Given the description of an element on the screen output the (x, y) to click on. 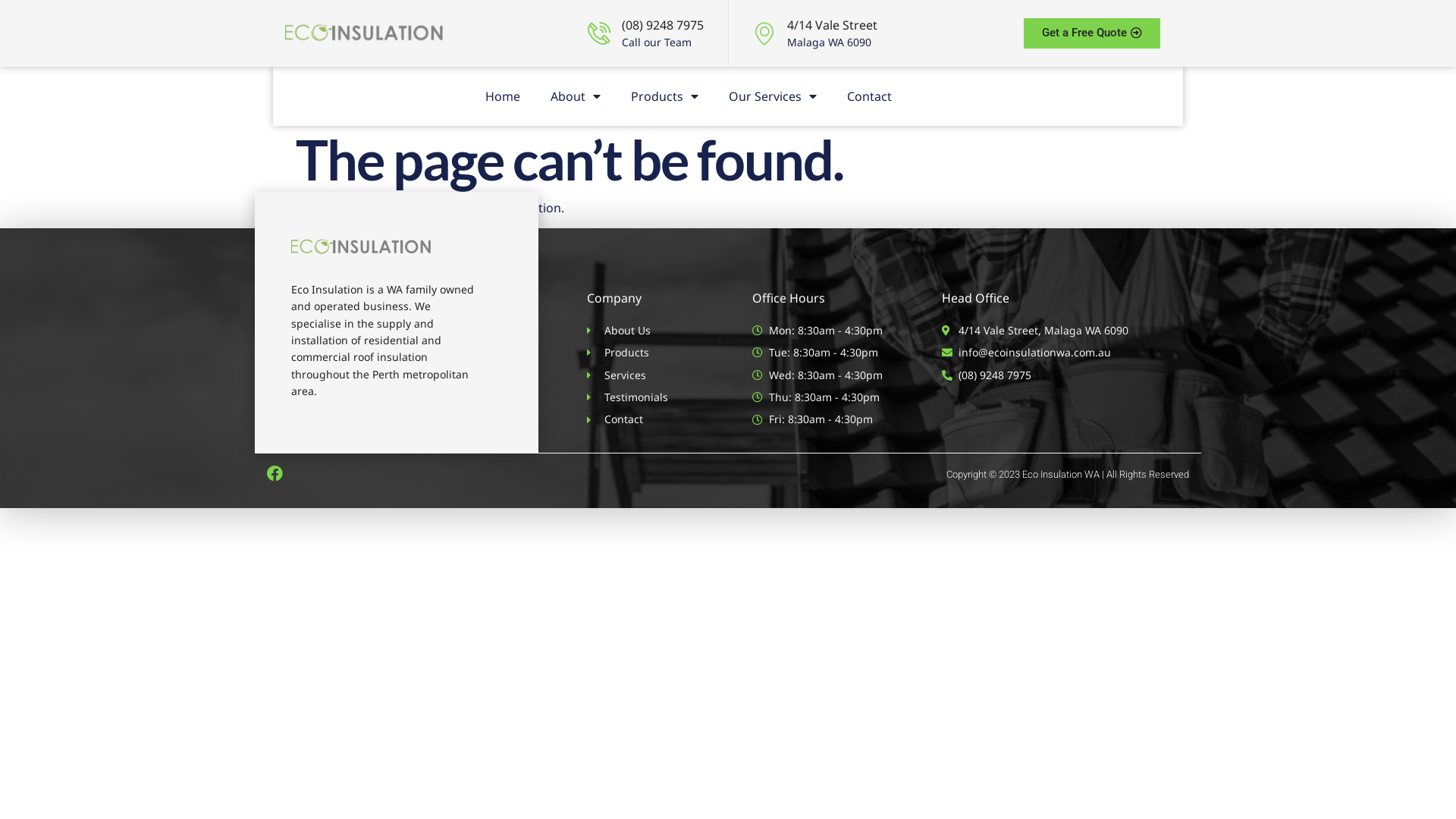
info@ecoinsulationwa.com.au Element type: text (1058, 352)
Our Services Element type: text (772, 95)
Contact Element type: text (644, 419)
About Us Element type: text (644, 330)
Products Element type: text (664, 95)
Services Element type: text (644, 375)
(08) 9248 7975 Element type: text (662, 24)
eco-insulation-wa-logo-stretched-removebg-preview Element type: hover (360, 247)
(08) 9248 7975 Element type: text (1058, 375)
Get a Free Quote Element type: text (1091, 33)
eco-insulation-wa-logo-stretched-removebg-preview Element type: hover (363, 33)
Contact Element type: text (868, 95)
About Element type: text (575, 95)
Products Element type: text (644, 352)
Home Element type: text (502, 95)
Testimonials Element type: text (644, 397)
